Given the description of an element on the screen output the (x, y) to click on. 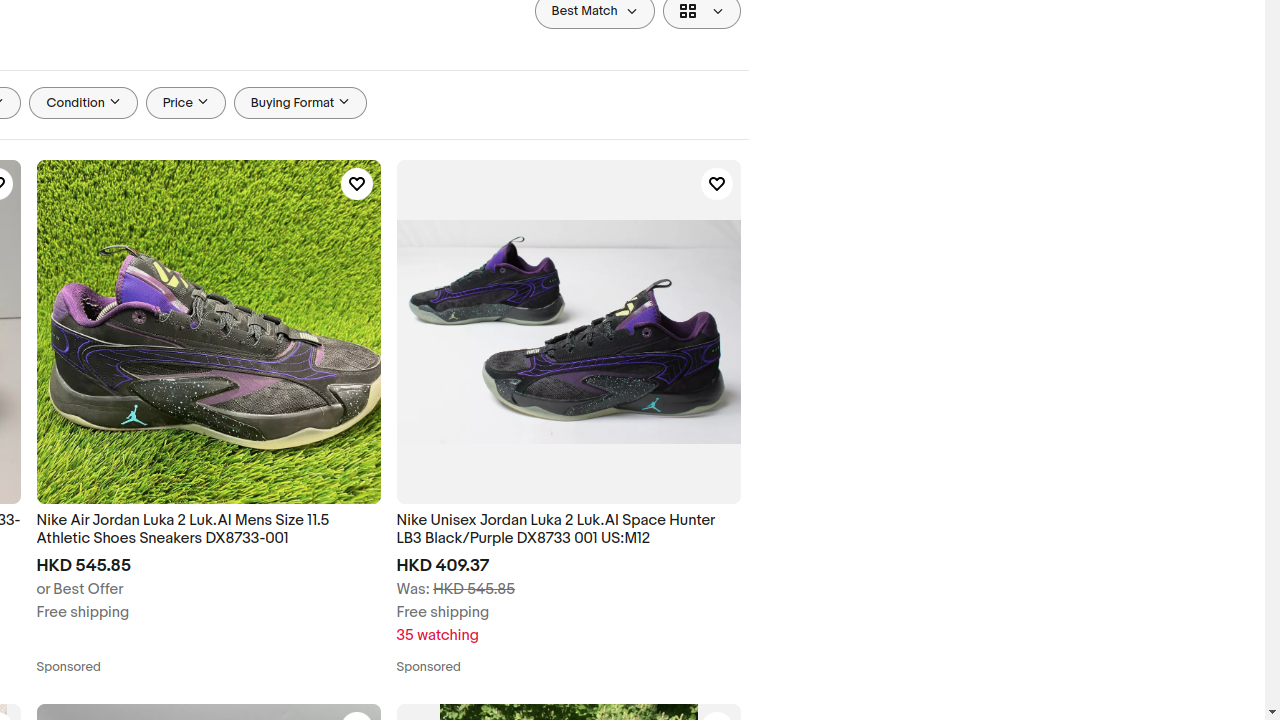
Price Element type: push-button (185, 103)
Buying Format Element type: push-button (300, 103)
Nike Unisex Jordan Luka 2 Luk.AI Space Hunter LB3 Black/Purple DX8733 001 US:M12 Element type: link (568, 530)
Click to watch item - Nike Air Jordan Luka 2 Luk.AI Mens Size 11.5 Athletic Shoes Sneakers DX8733-001 Element type: push-button (356, 184)
Condition Element type: push-button (83, 103)
